Given the description of an element on the screen output the (x, y) to click on. 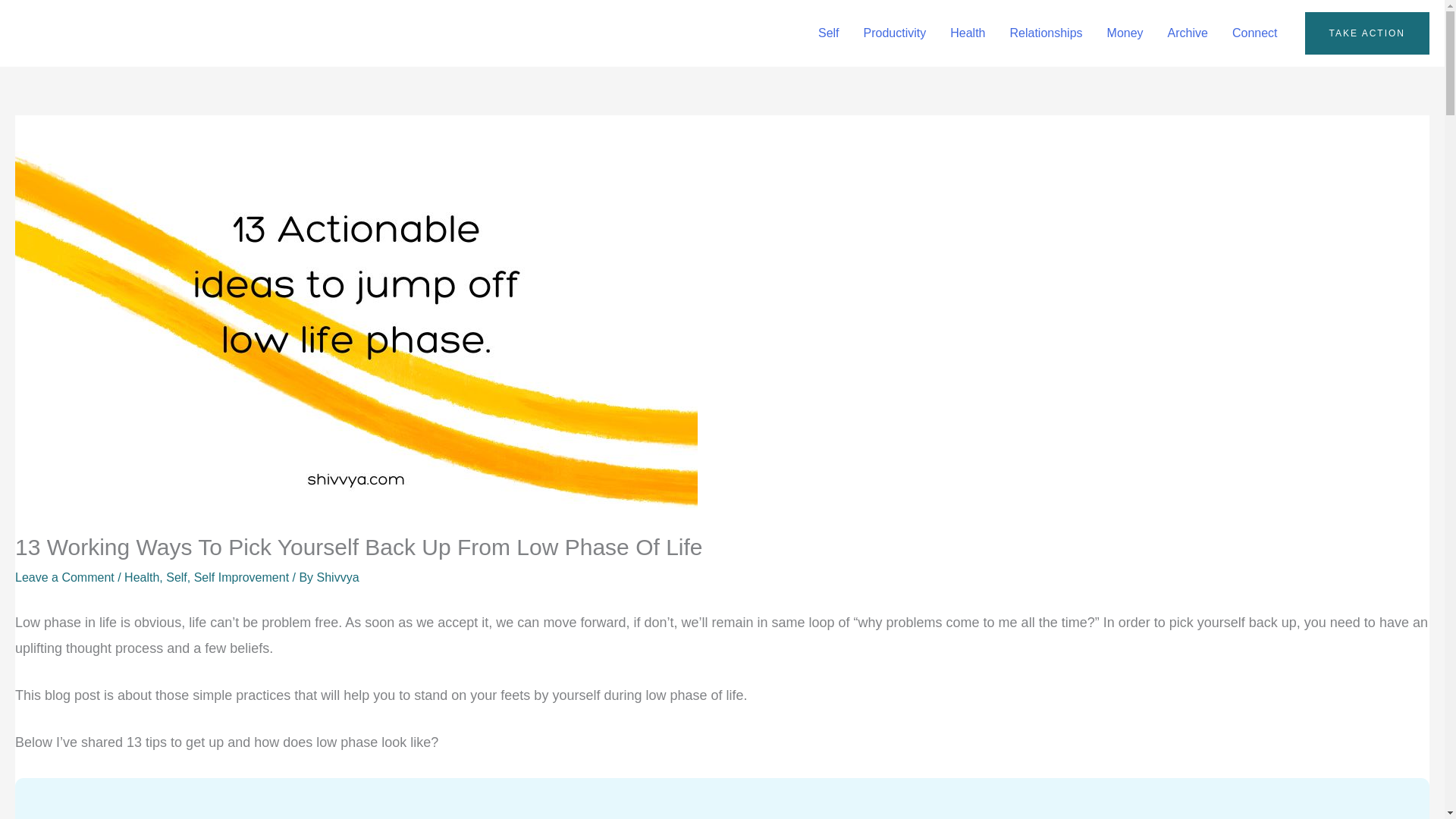
Leave a Comment (64, 576)
Health (140, 576)
Productivity (895, 33)
Archive (1188, 33)
Self (828, 33)
Self Improvement (240, 576)
Shivvya (338, 576)
Money (1125, 33)
Connect (1255, 33)
Health (967, 33)
Relationships (1045, 33)
View all posts by Shivvya (338, 576)
TAKE ACTION (1366, 33)
Self (176, 576)
